Given the description of an element on the screen output the (x, y) to click on. 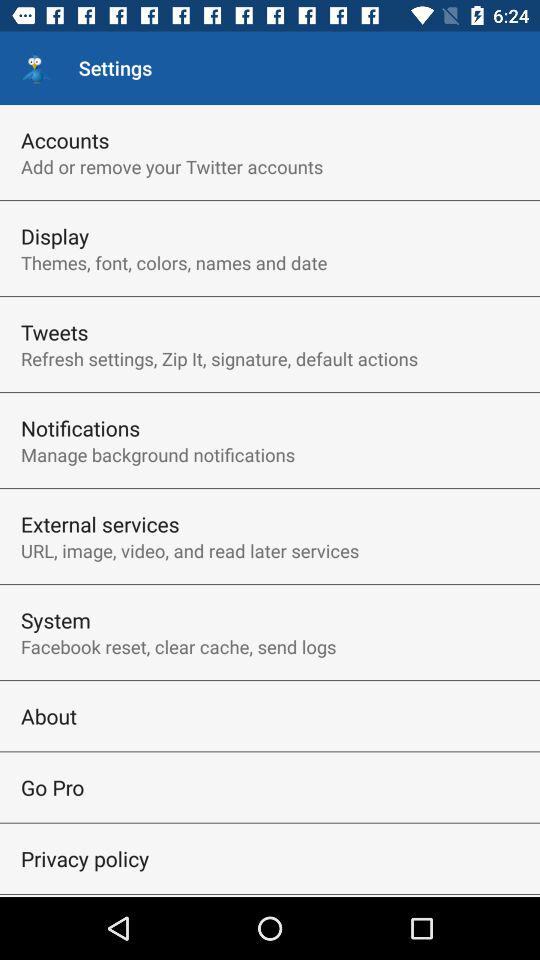
click url image video (190, 550)
